Given the description of an element on the screen output the (x, y) to click on. 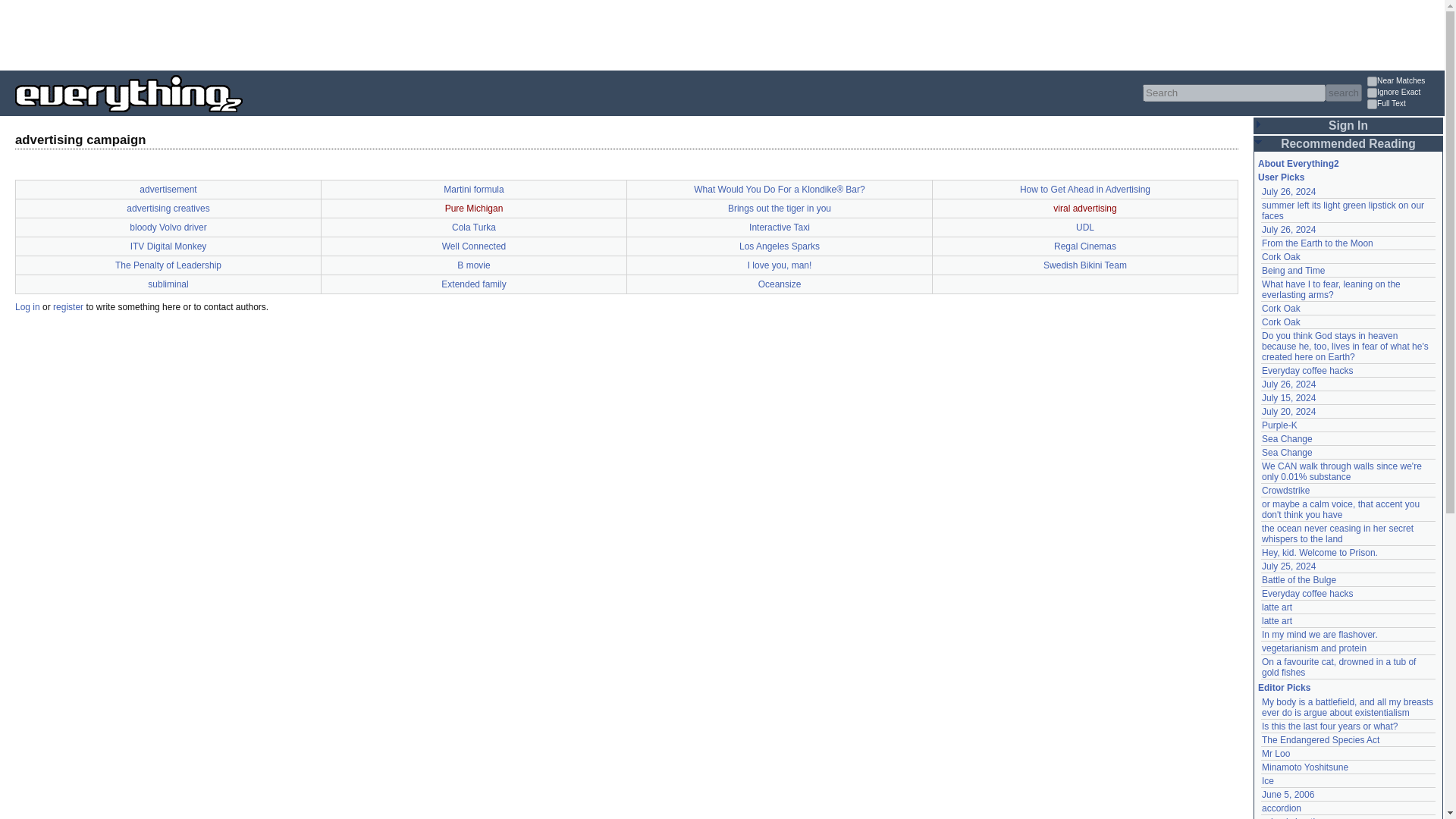
search (1342, 92)
1 (1372, 81)
Swedish Bikini Team (1084, 265)
1 (1372, 103)
About Everything2 (1298, 163)
Pure Michigan (474, 208)
subliminal (167, 284)
Sign Up (67, 307)
search (1342, 92)
July 26, 2024 (1289, 191)
Login (1276, 239)
advertisement (167, 189)
How to Get Ahead in Advertising (1085, 189)
What have I to fear, leaning on the everlasting arms? (1331, 289)
Well Connected (474, 245)
